Given the description of an element on the screen output the (x, y) to click on. 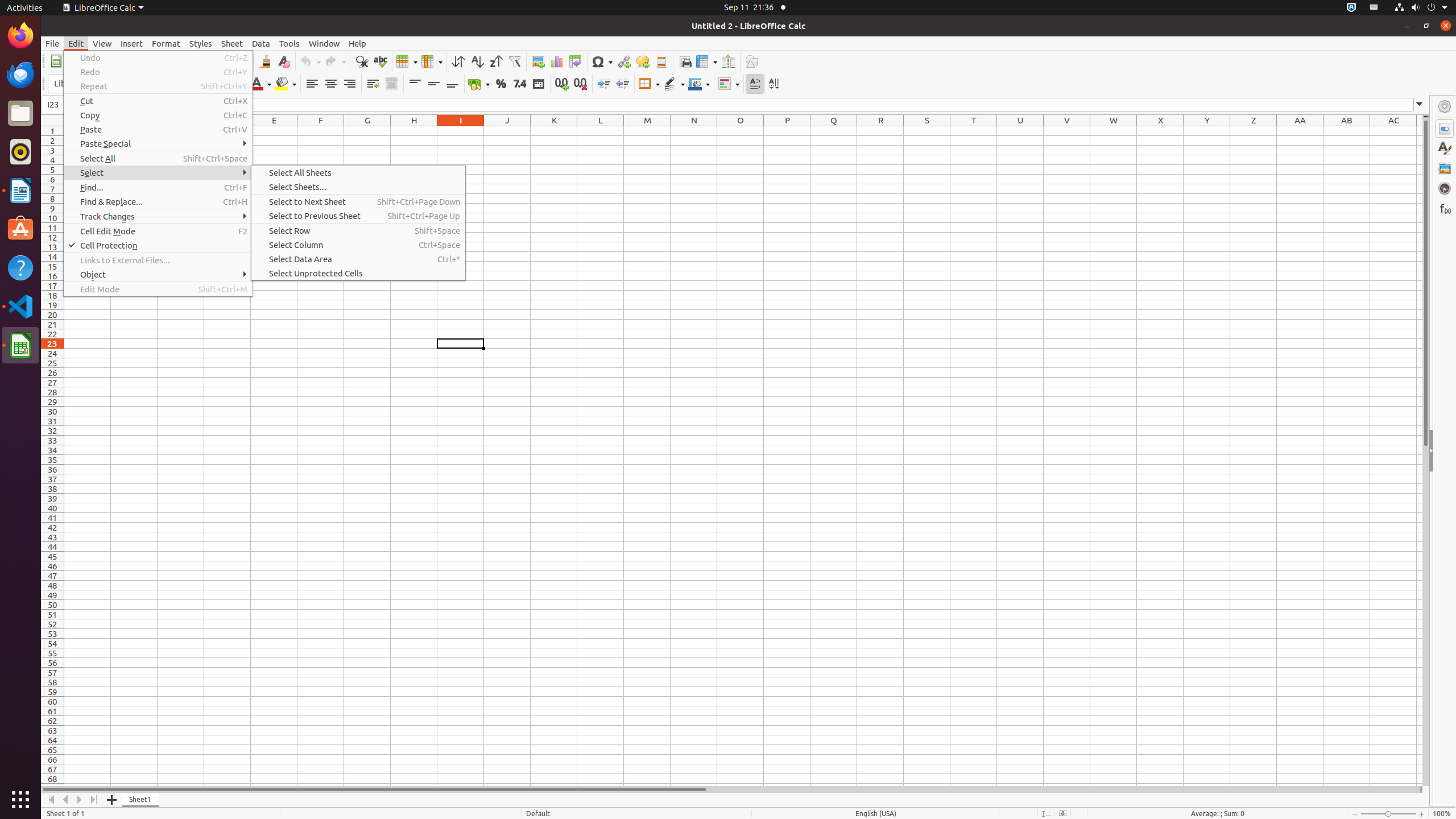
Select to Next Sheet Element type: menu-item (358, 201)
Select All Element type: menu-item (157, 158)
Z1 Element type: table-cell (1253, 130)
Select Sheets... Element type: menu-item (358, 186)
N1 Element type: table-cell (693, 130)
